Given the description of an element on the screen output the (x, y) to click on. 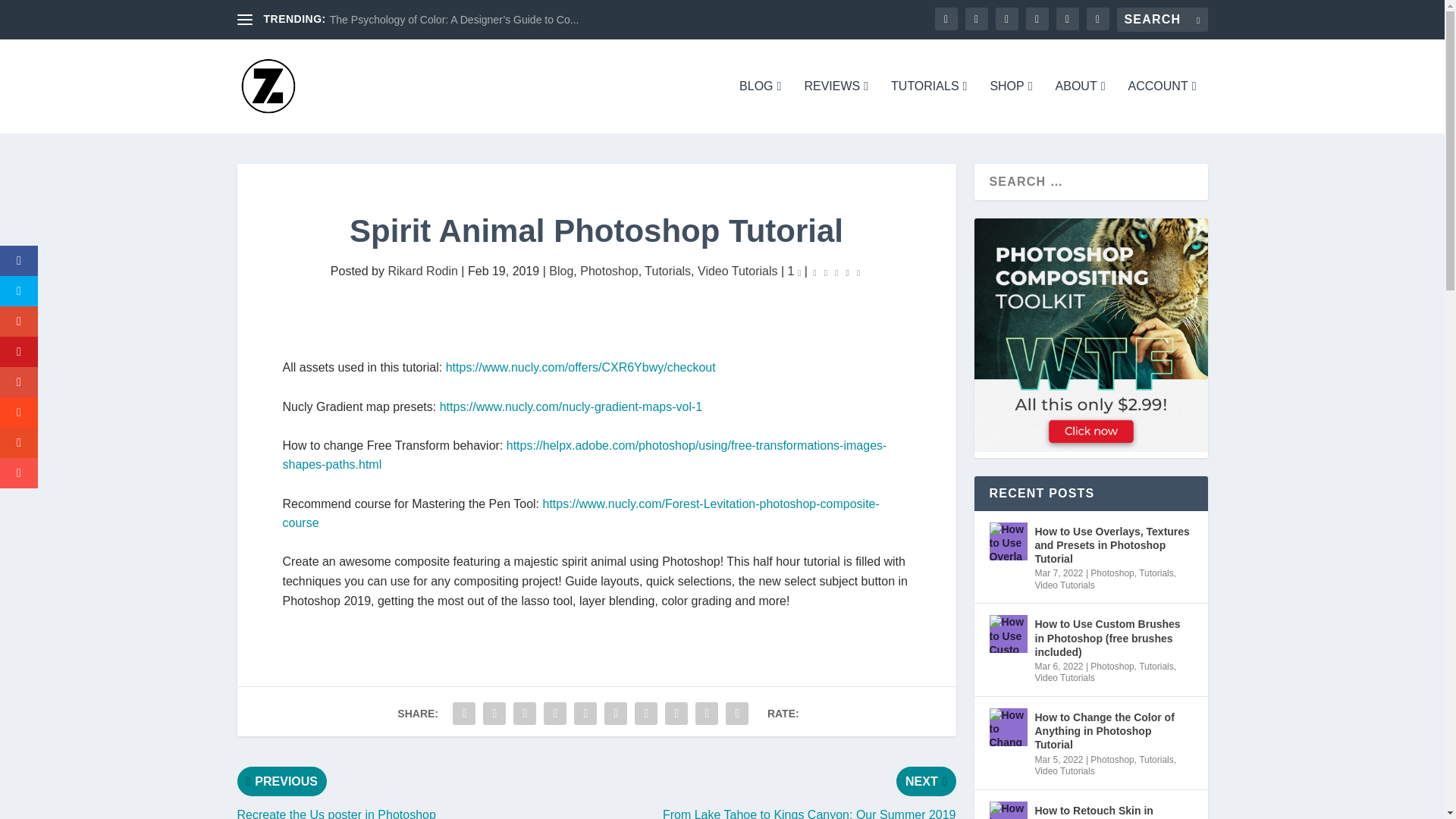
Share "Spirit Animal Photoshop Tutorial" via Twitter (494, 713)
Rikard Rodin (422, 270)
ACCOUNT (1162, 106)
ABOUT (1080, 106)
Share "Spirit Animal Photoshop Tutorial" via LinkedIn (614, 713)
Share "Spirit Animal Photoshop Tutorial" via Buffer (645, 713)
Share "Spirit Animal Photoshop Tutorial" via Facebook (463, 713)
Photoshop (609, 270)
Share "Spirit Animal Photoshop Tutorial" via Email (706, 713)
Share "Spirit Animal Photoshop Tutorial" via Print (737, 713)
